Given the description of an element on the screen output the (x, y) to click on. 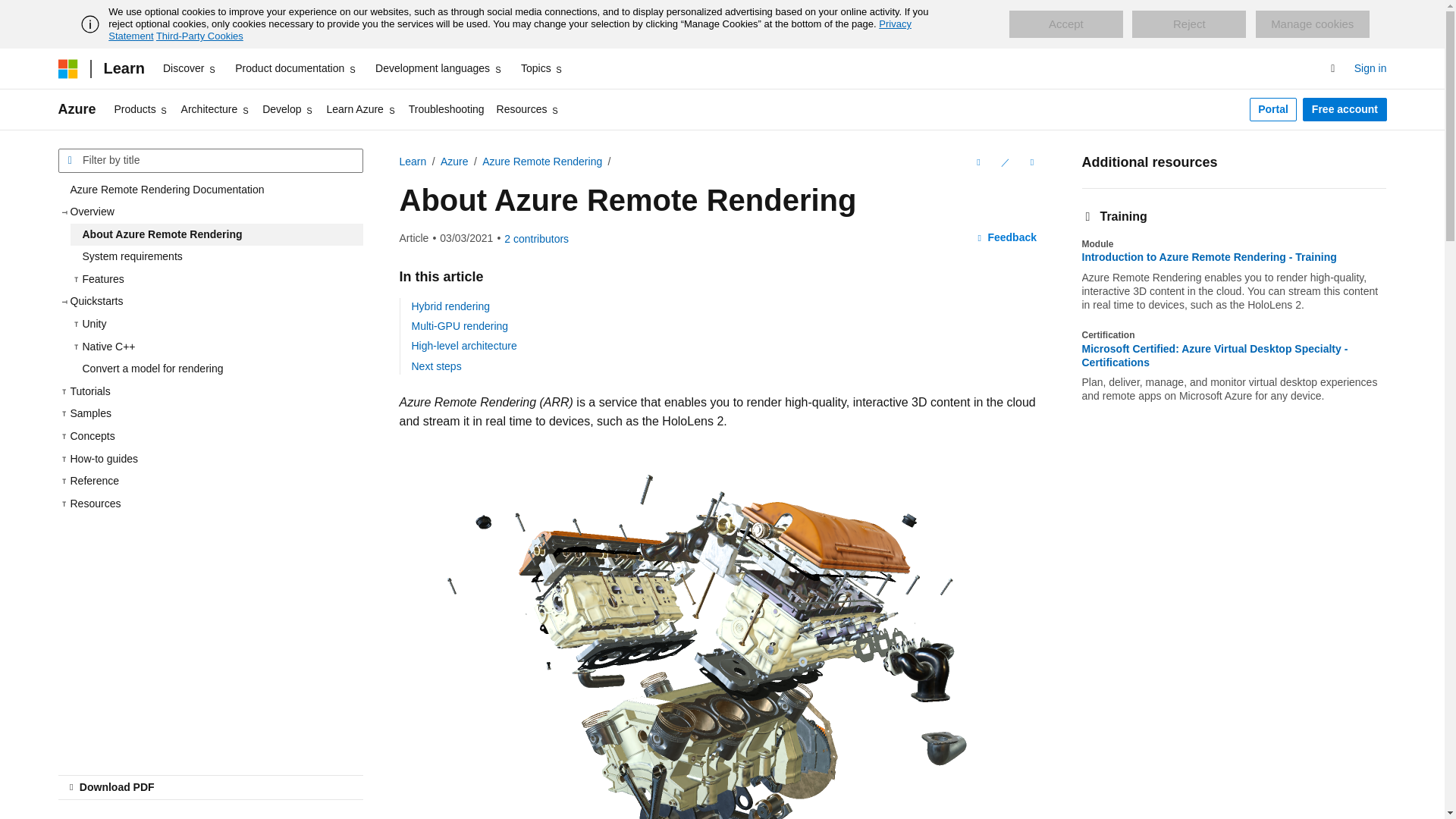
View all contributors (536, 238)
Reject (1189, 23)
Learn (123, 68)
Azure (77, 109)
Products (140, 109)
Development languages (438, 68)
Edit This Document (1004, 161)
Privacy Statement (509, 29)
Accept (1065, 23)
Sign in (1370, 68)
Third-Party Cookies (199, 35)
Skip to main content (11, 11)
Topics (542, 68)
More actions (1031, 161)
Product documentation (295, 68)
